Given the description of an element on the screen output the (x, y) to click on. 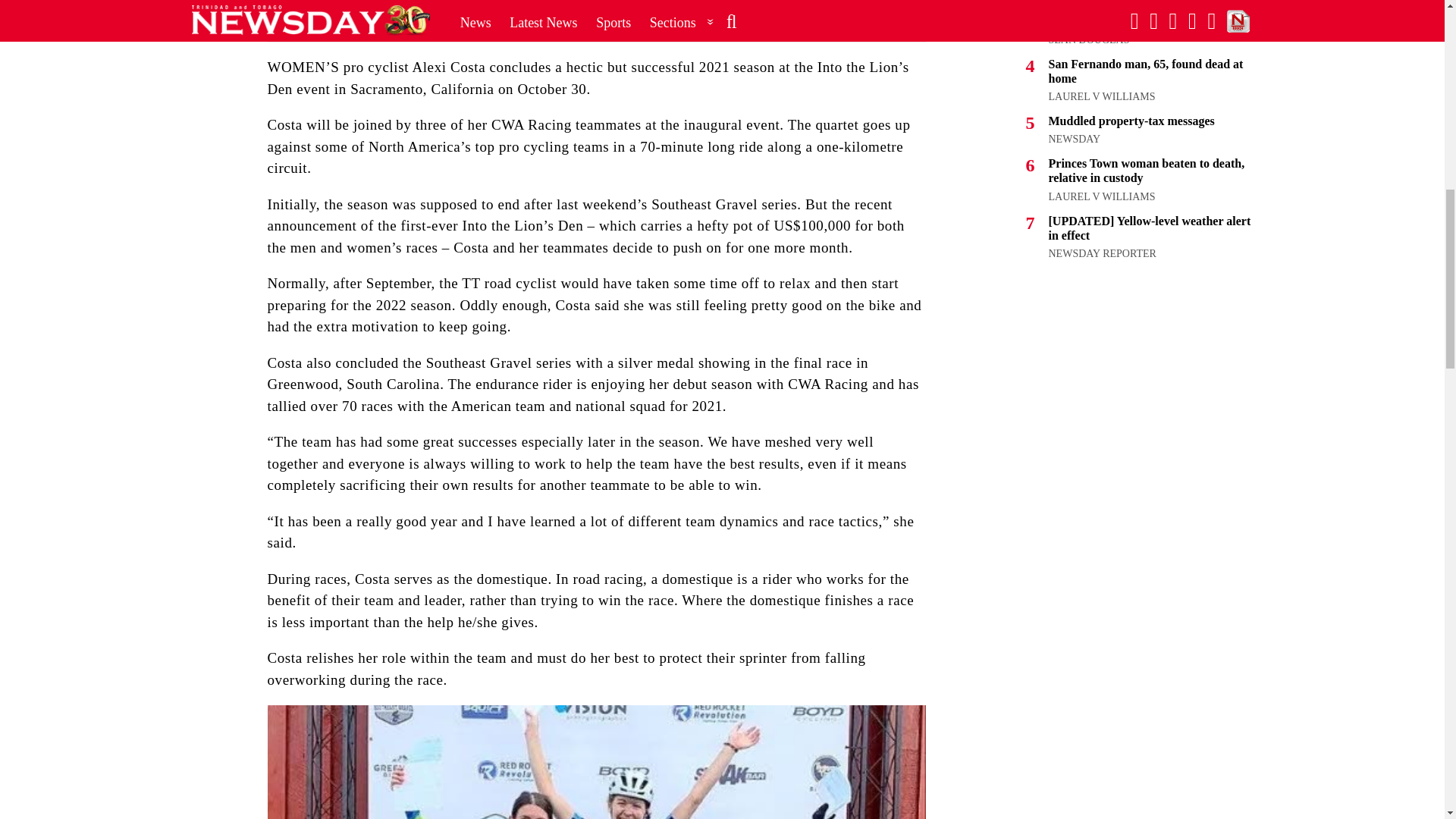
NEWSDAY (1074, 138)
YVONNE WEBB (1086, 1)
Muddled property-tax messages (1131, 120)
San Fernando man, 65, found dead at home (1145, 71)
NEWSDAY REPORTER (1102, 253)
Acting Auditor General sworn in (1133, 21)
LAUREL V WILLIAMS (1101, 196)
Princes Town woman beaten to death, relative in custody (1146, 170)
LAUREL V WILLIAMS (1101, 96)
SEAN DOUGLAS (1088, 39)
